Given the description of an element on the screen output the (x, y) to click on. 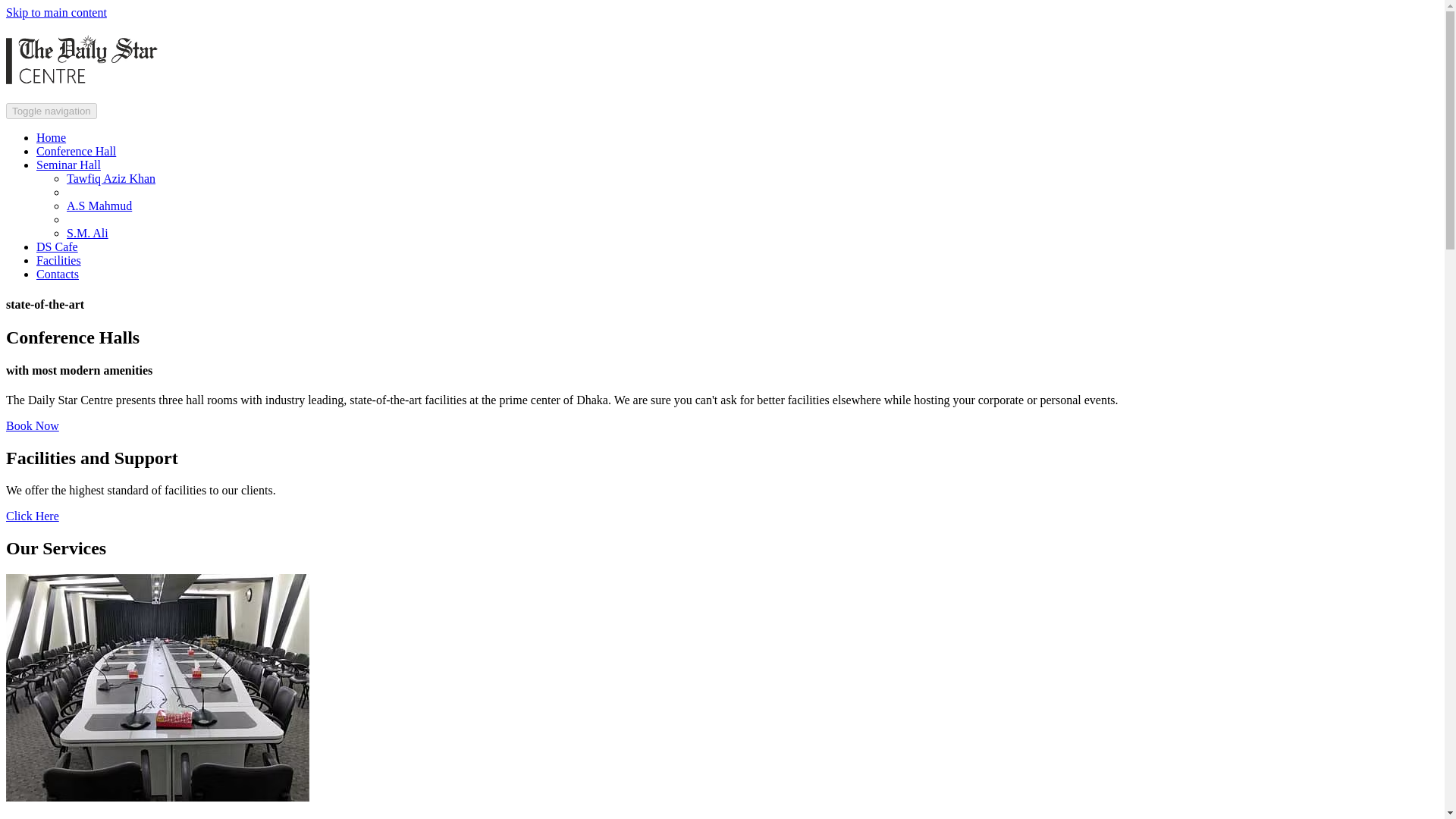
A.S Mahmud (99, 205)
Toggle navigation (51, 110)
Conference Hall (76, 151)
Click Here (32, 515)
Tawfiq Aziz Khan (110, 178)
Book Now (32, 425)
Contacts (57, 273)
S.M. Ali (86, 232)
Seminar Hall (68, 164)
DS Cafe (57, 246)
